Given the description of an element on the screen output the (x, y) to click on. 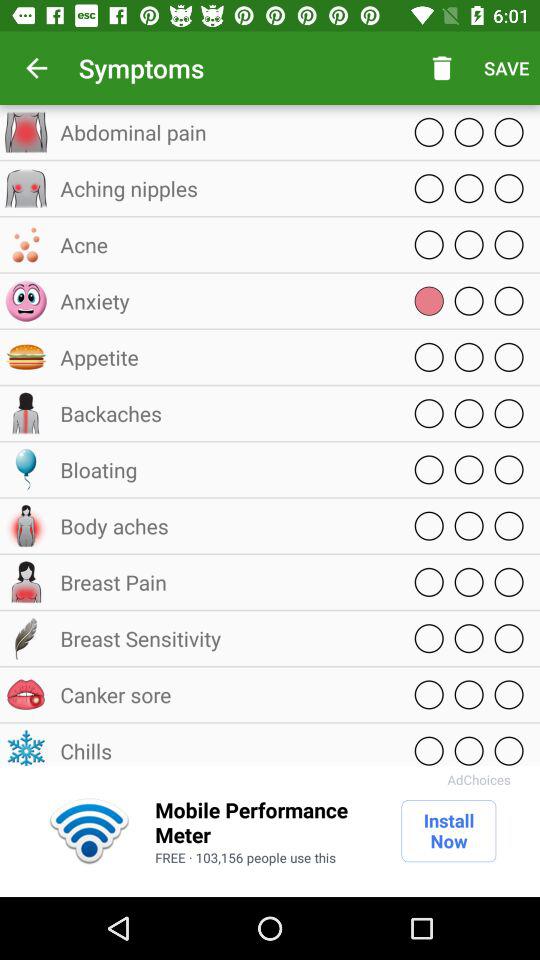
click the icon to the left of the symptoms (36, 68)
